Given the description of an element on the screen output the (x, y) to click on. 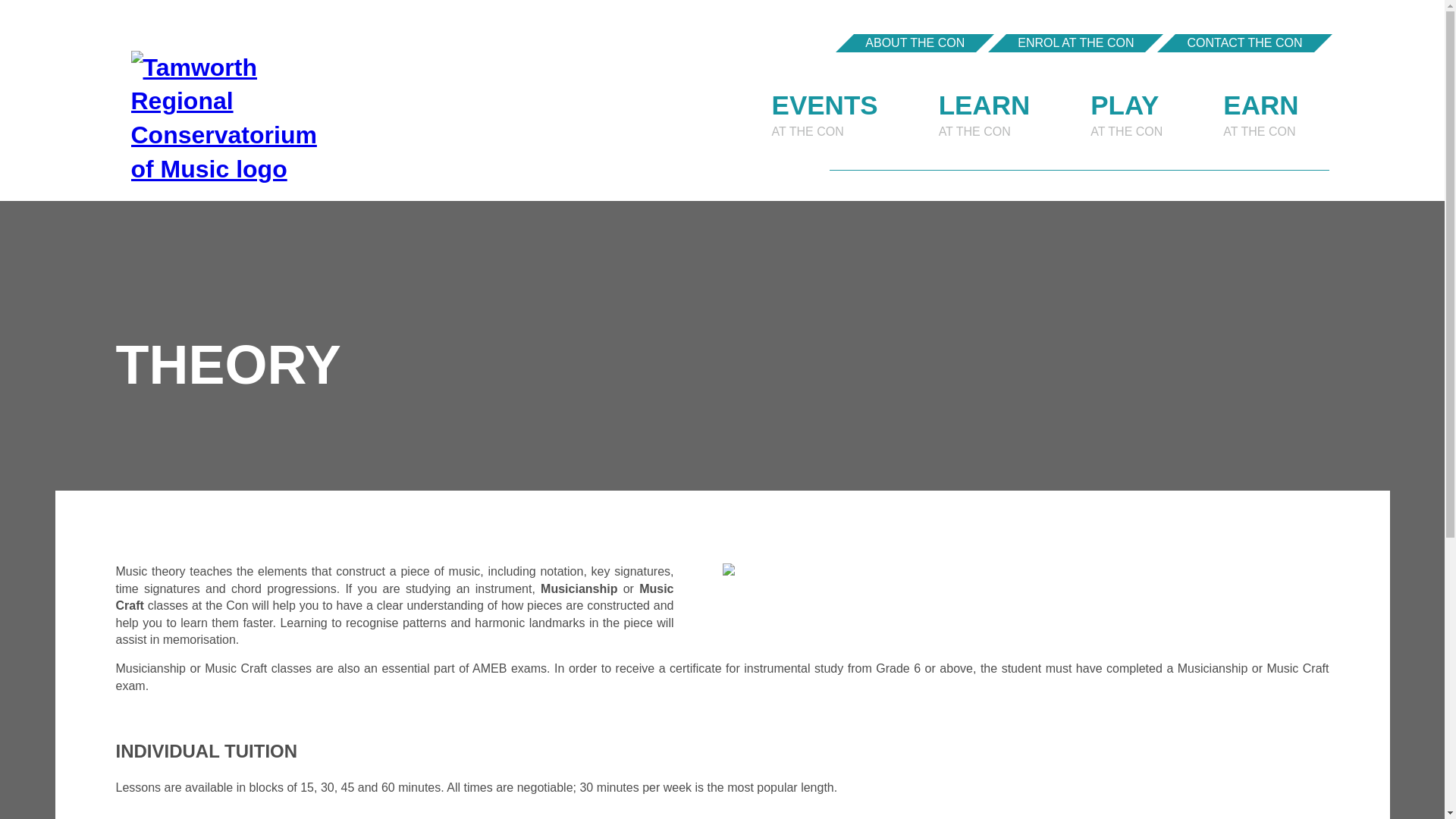
CONTACT THE CON (984, 113)
ABOUT THE CON (824, 113)
ENROL AT THE CON (1125, 113)
